Given the description of an element on the screen output the (x, y) to click on. 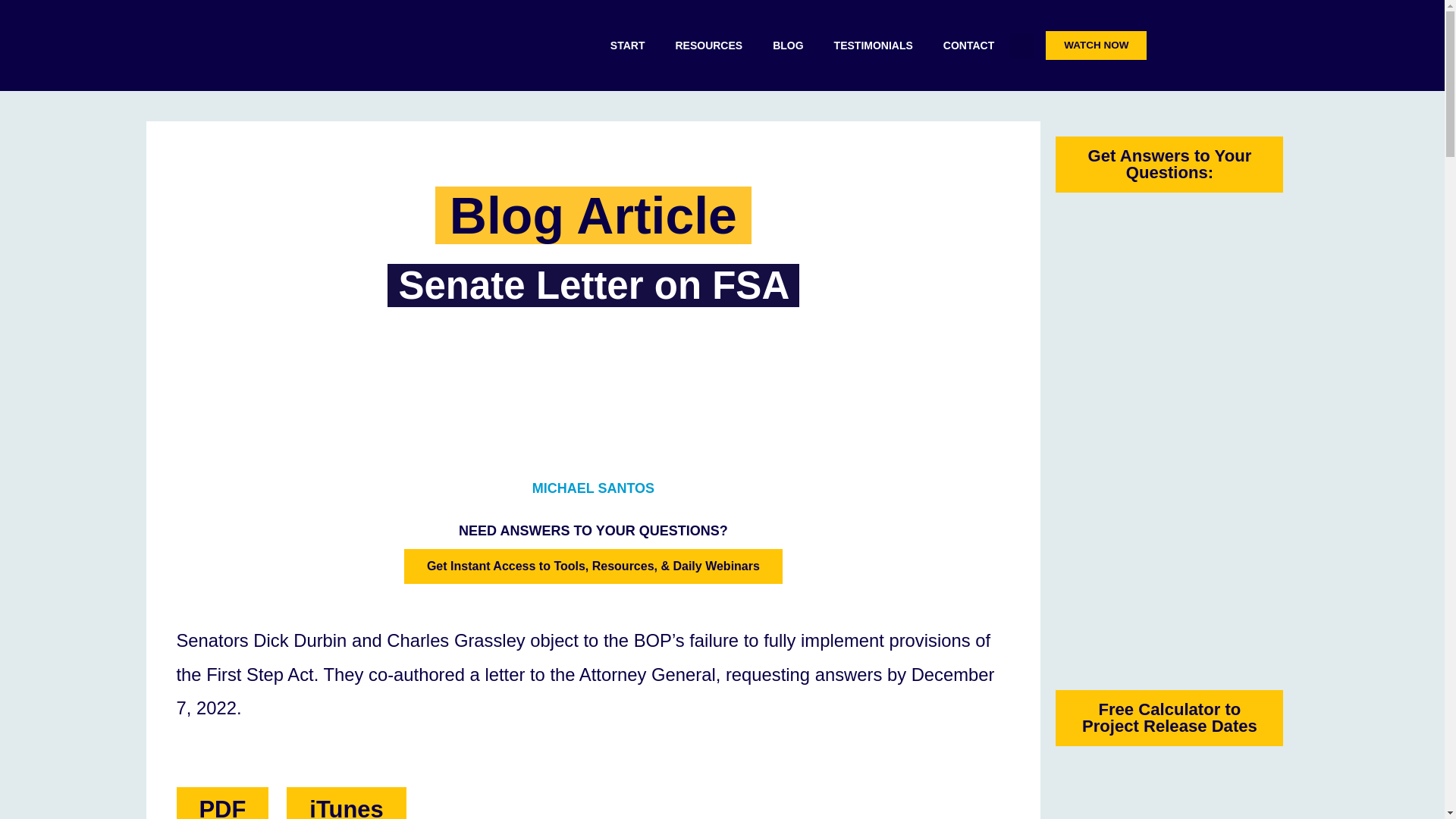
START (628, 45)
BLOG (787, 45)
TESTIMONIALS (873, 45)
RESOURCES (708, 45)
CONTACT (968, 45)
